Given the description of an element on the screen output the (x, y) to click on. 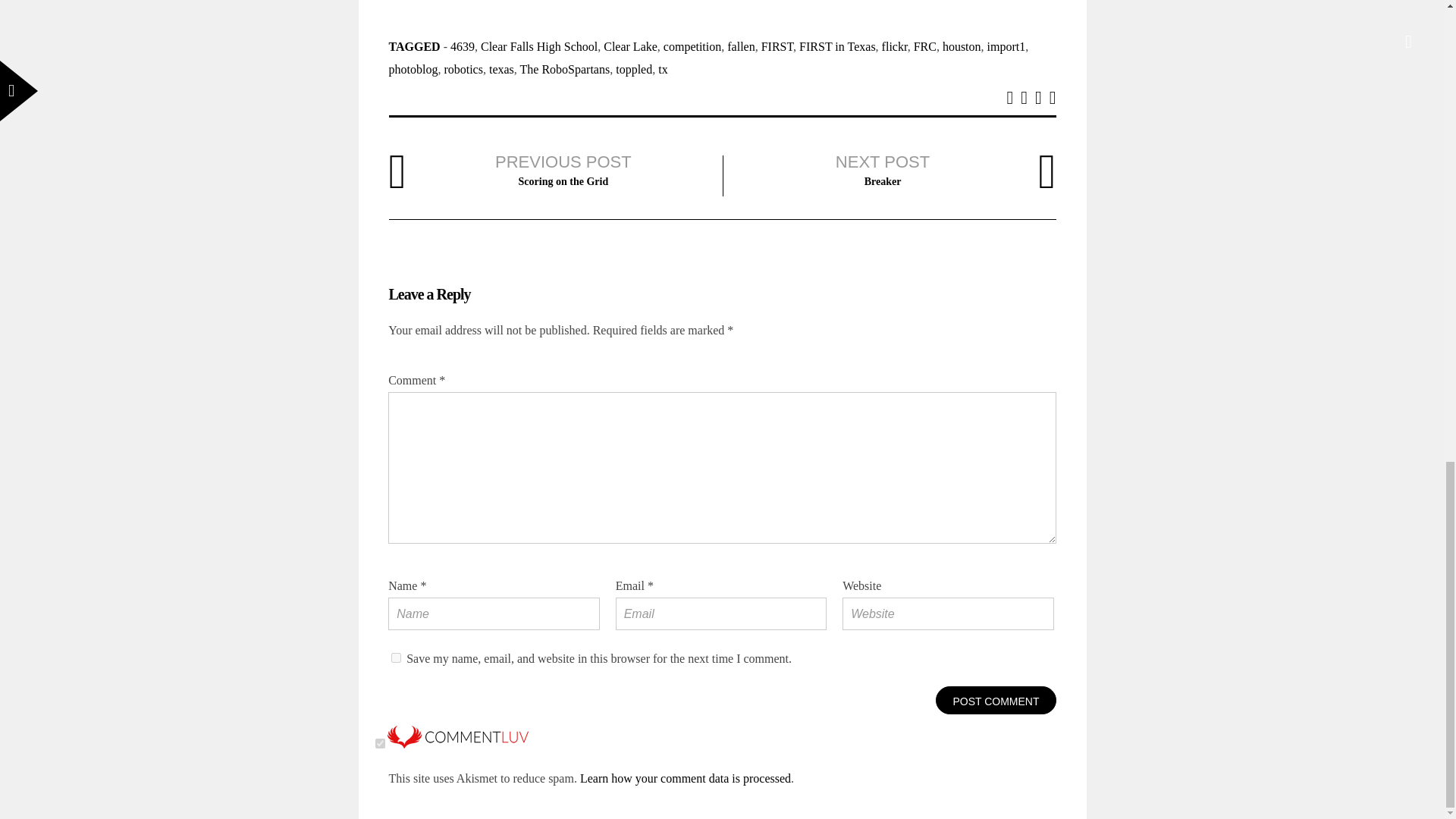
yes (396, 657)
Post Comment (995, 700)
on (380, 743)
